Given the description of an element on the screen output the (x, y) to click on. 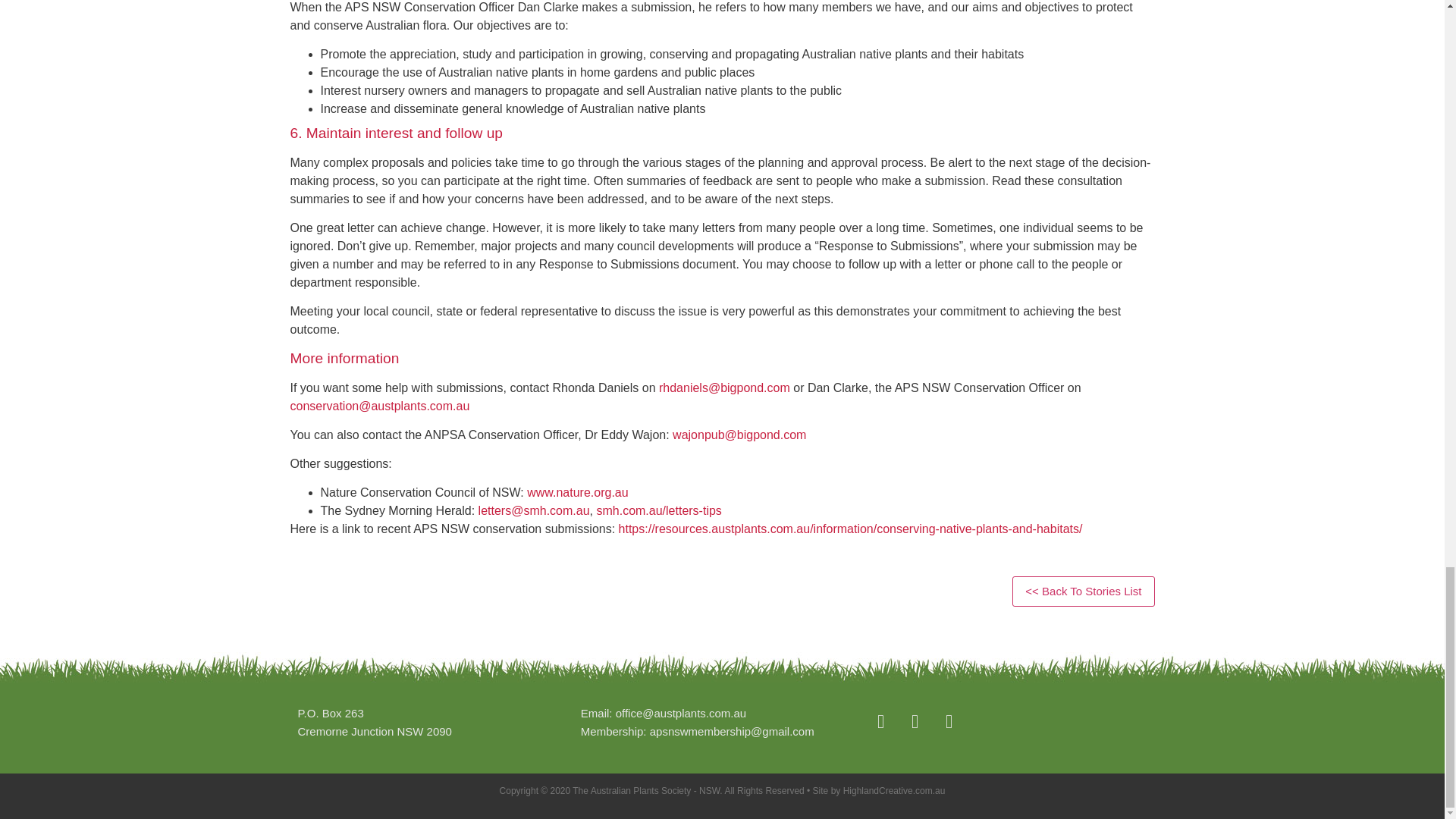
www.nature.org.au (577, 492)
